Given the description of an element on the screen output the (x, y) to click on. 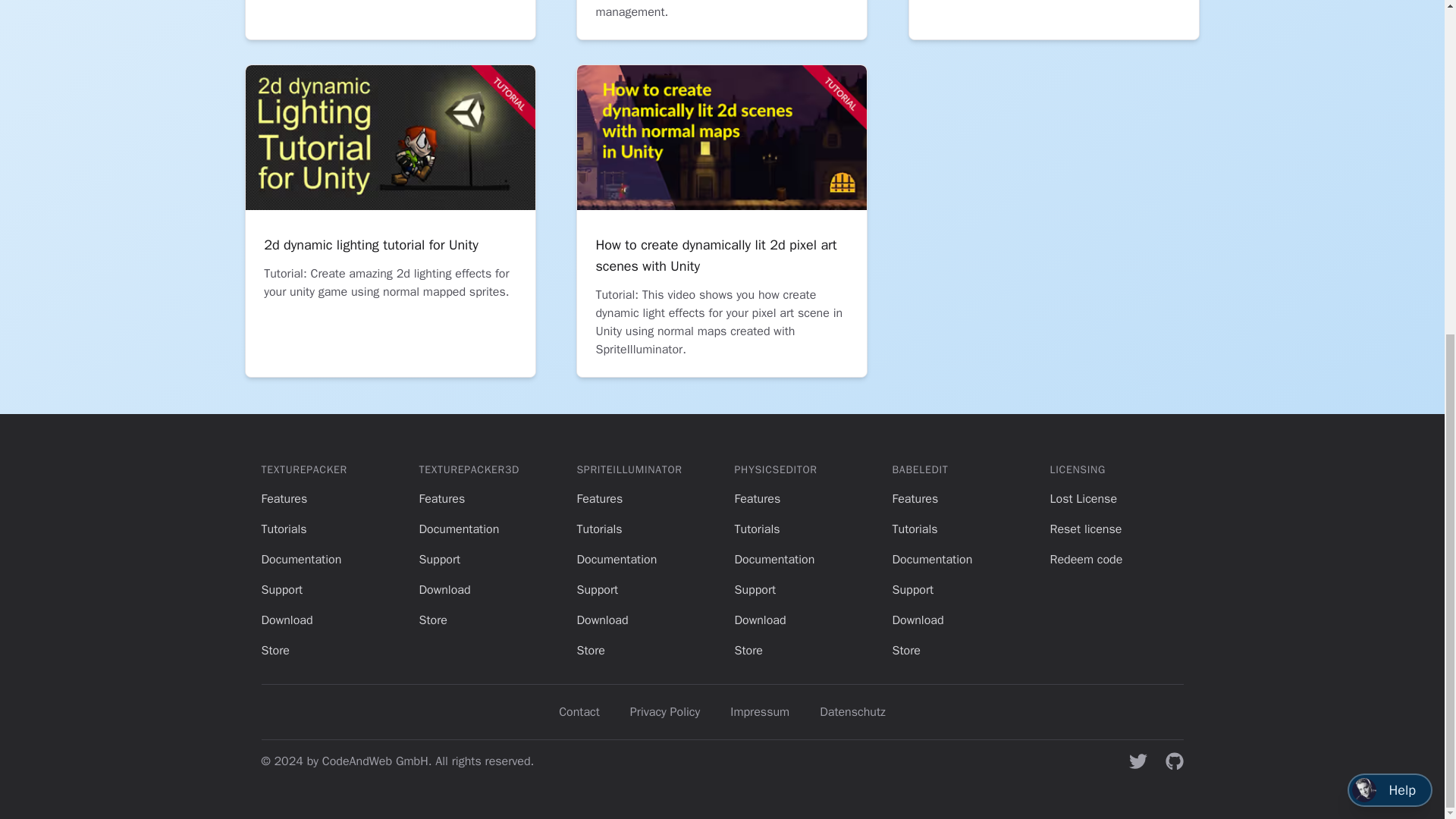
Documentation (300, 559)
Features (441, 498)
Download (601, 619)
Documentation (616, 559)
Store (274, 650)
Support (596, 589)
Store (590, 650)
Tutorials (282, 529)
Tutorials (598, 529)
Features (283, 498)
